Given the description of an element on the screen output the (x, y) to click on. 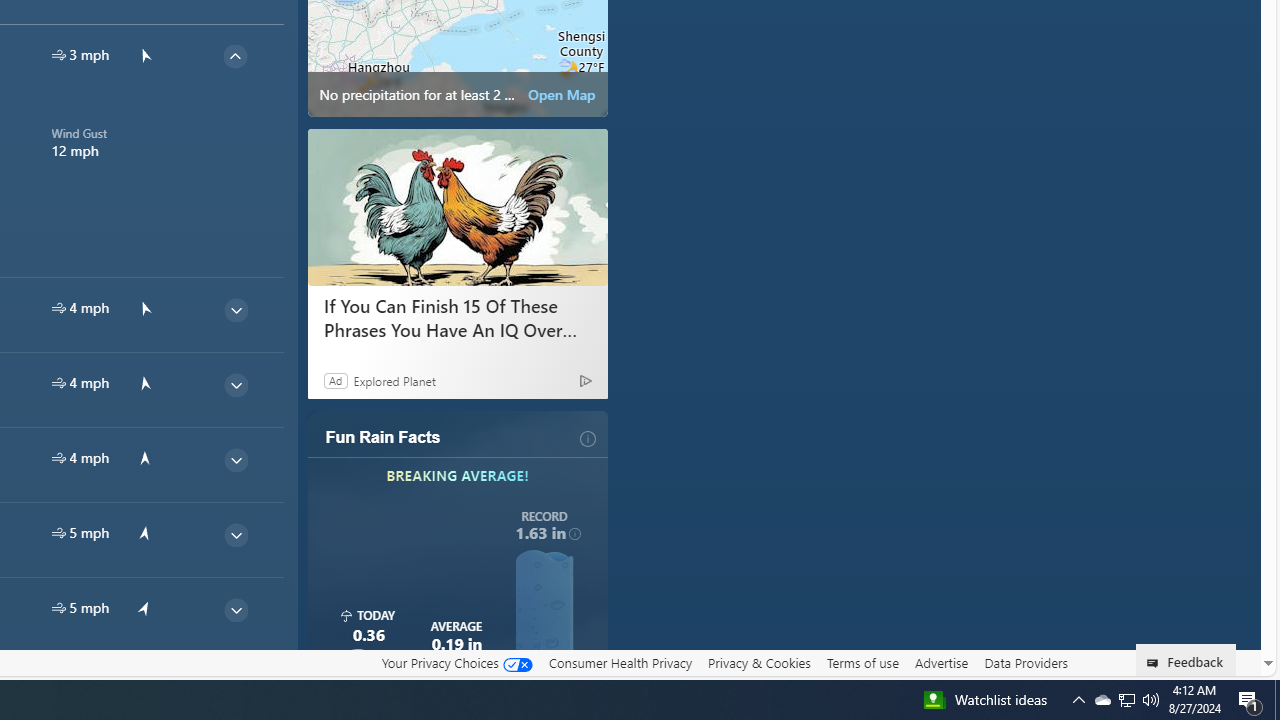
Open Map (561, 94)
Privacy & Cookies (759, 663)
Terms of use (861, 663)
Privacy & Cookies (759, 662)
common/arrow (144, 682)
Show desktop (1277, 699)
Data Providers (1025, 662)
Consumer Health Privacy (619, 662)
Terms of use (861, 662)
Fun Rain Facts (383, 437)
